Given the description of an element on the screen output the (x, y) to click on. 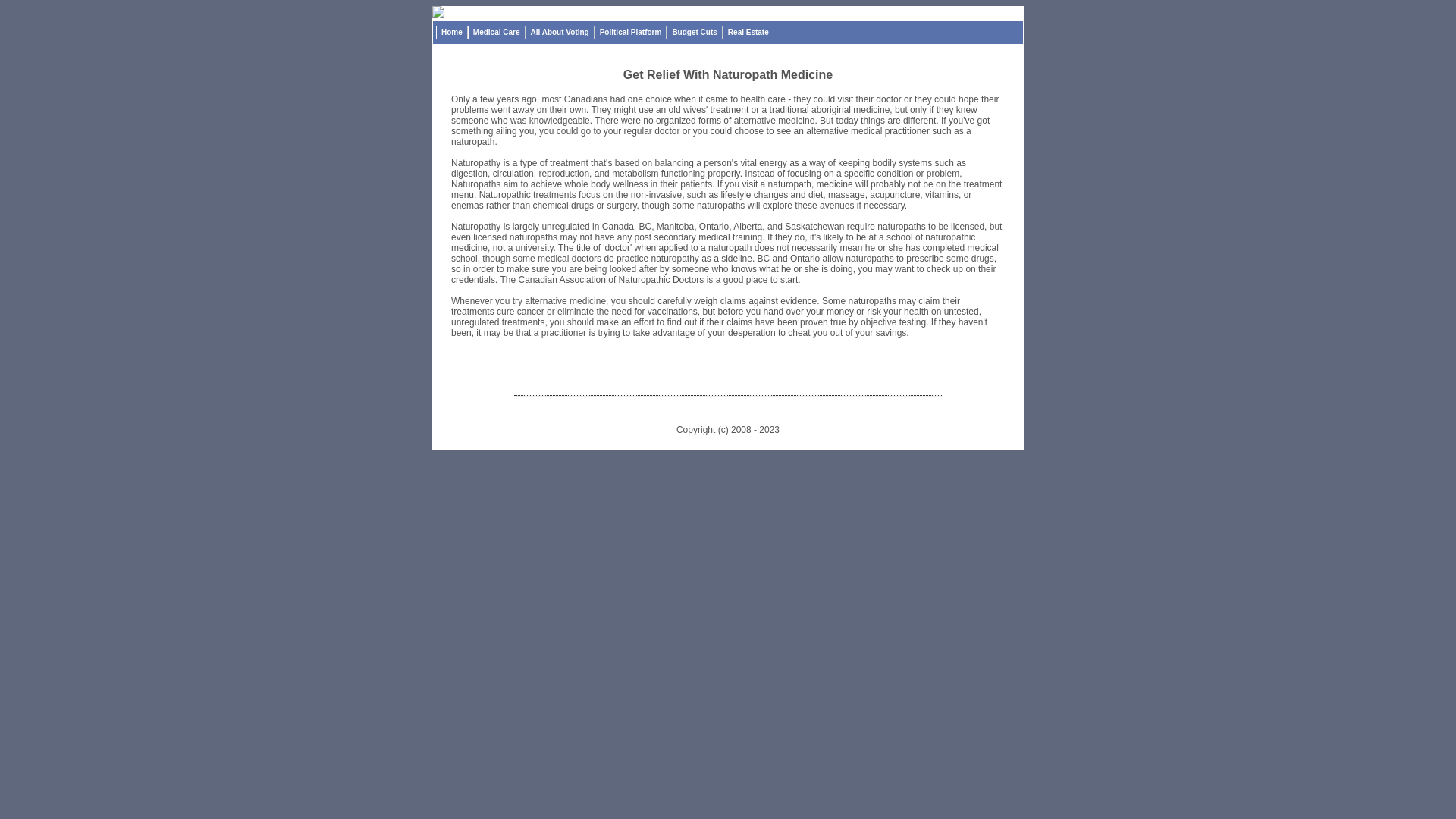
All About Voting Element type: text (558, 32)
Political Platform Element type: text (630, 32)
Medical Care Element type: text (496, 32)
Home Element type: text (451, 32)
Real Estate Element type: text (748, 32)
Budget Cuts Element type: text (693, 32)
